Given the description of an element on the screen output the (x, y) to click on. 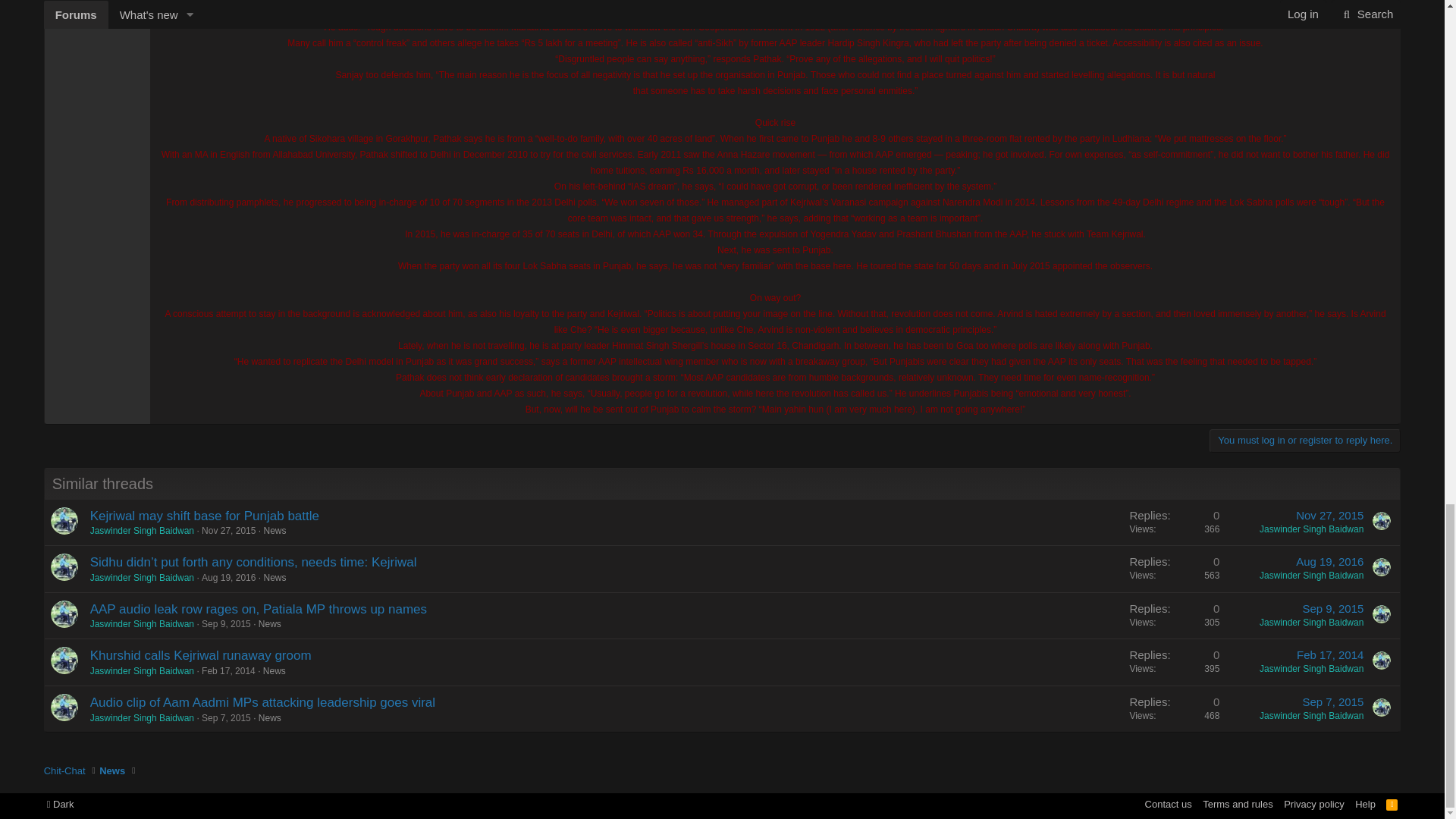
Nov 27, 2015 at 9:39 AM (229, 530)
You must log in or register to reply here. (1304, 440)
Aug 19, 2016 at 10:03 AM (229, 577)
Jaswinder Singh Baidwan (141, 530)
Nov 27, 2015 (1328, 514)
News (274, 530)
Kejriwal may shift base for Punjab battle (204, 515)
Jaswinder Singh Baidwan (1310, 529)
First message reaction score: 0 (1173, 522)
Nov 27, 2015 (229, 530)
